Given the description of an element on the screen output the (x, y) to click on. 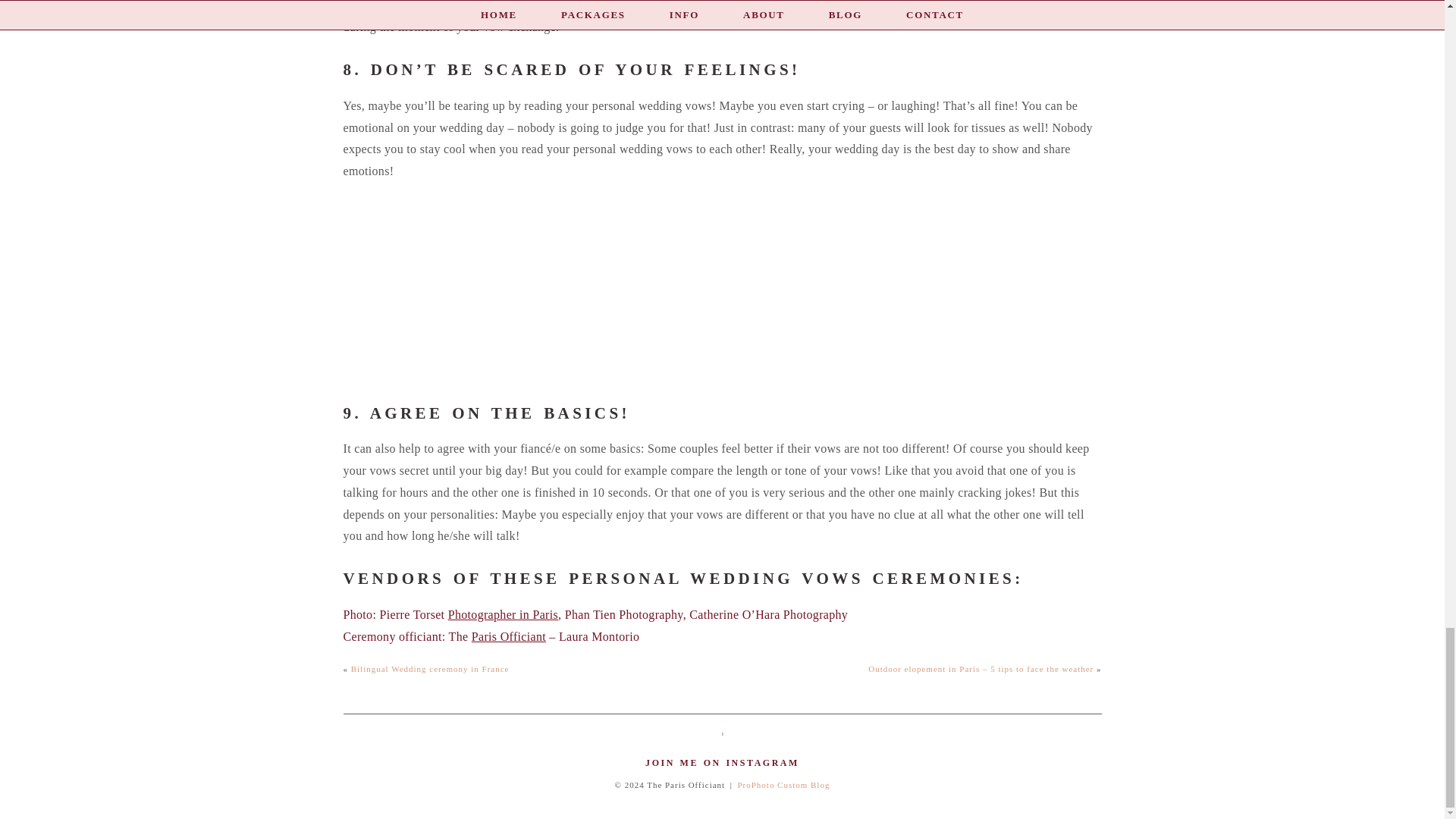
ProPhoto Photography Theme (782, 784)
Bilingual Wedding ceremony in France (429, 668)
Paris Officiant (508, 635)
Photographer in Paris (502, 614)
